Given the description of an element on the screen output the (x, y) to click on. 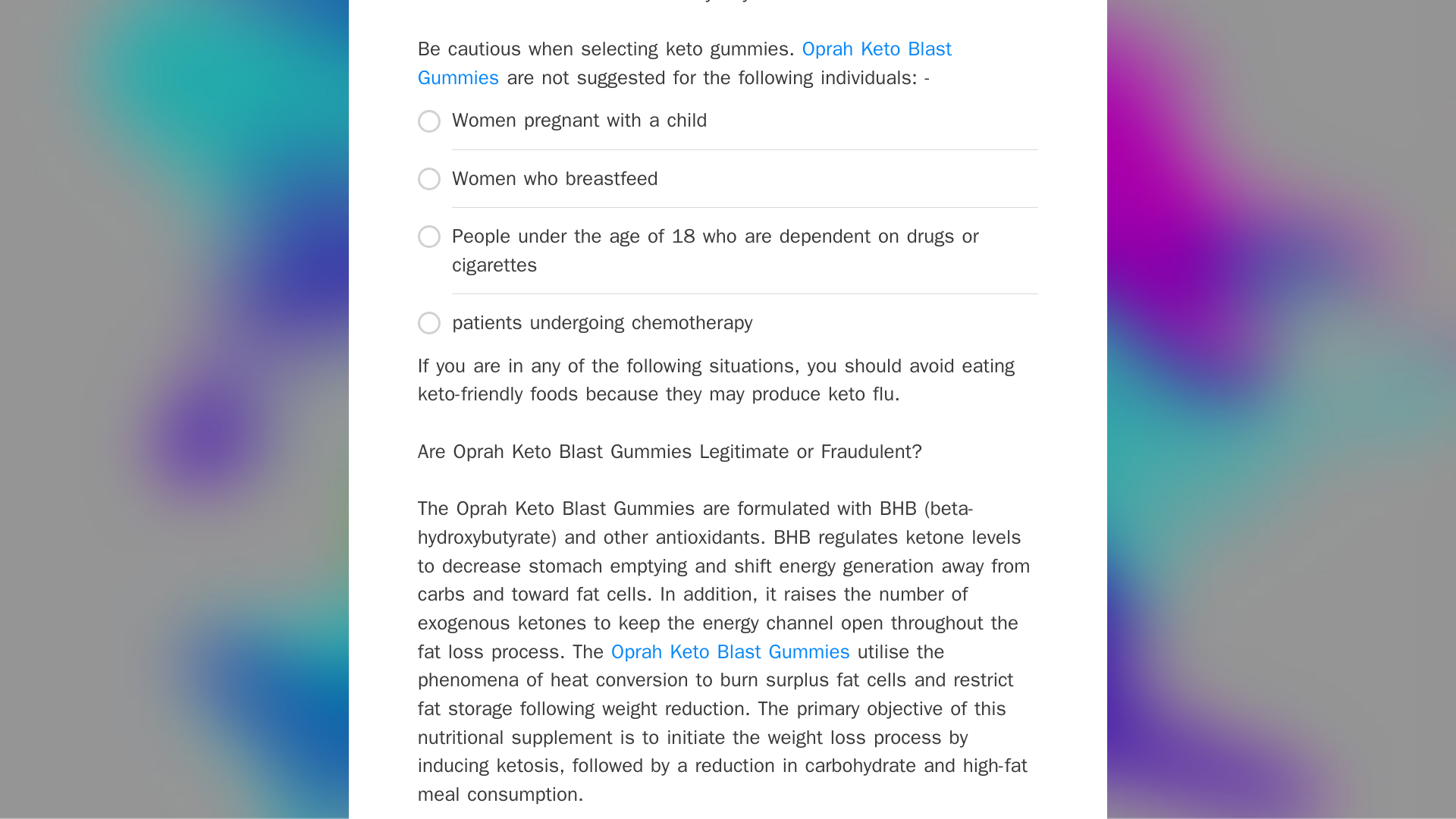
Oprah Keto Blast Gummies (730, 651)
Oprah Keto Blast Gummies (684, 63)
